Given the description of an element on the screen output the (x, y) to click on. 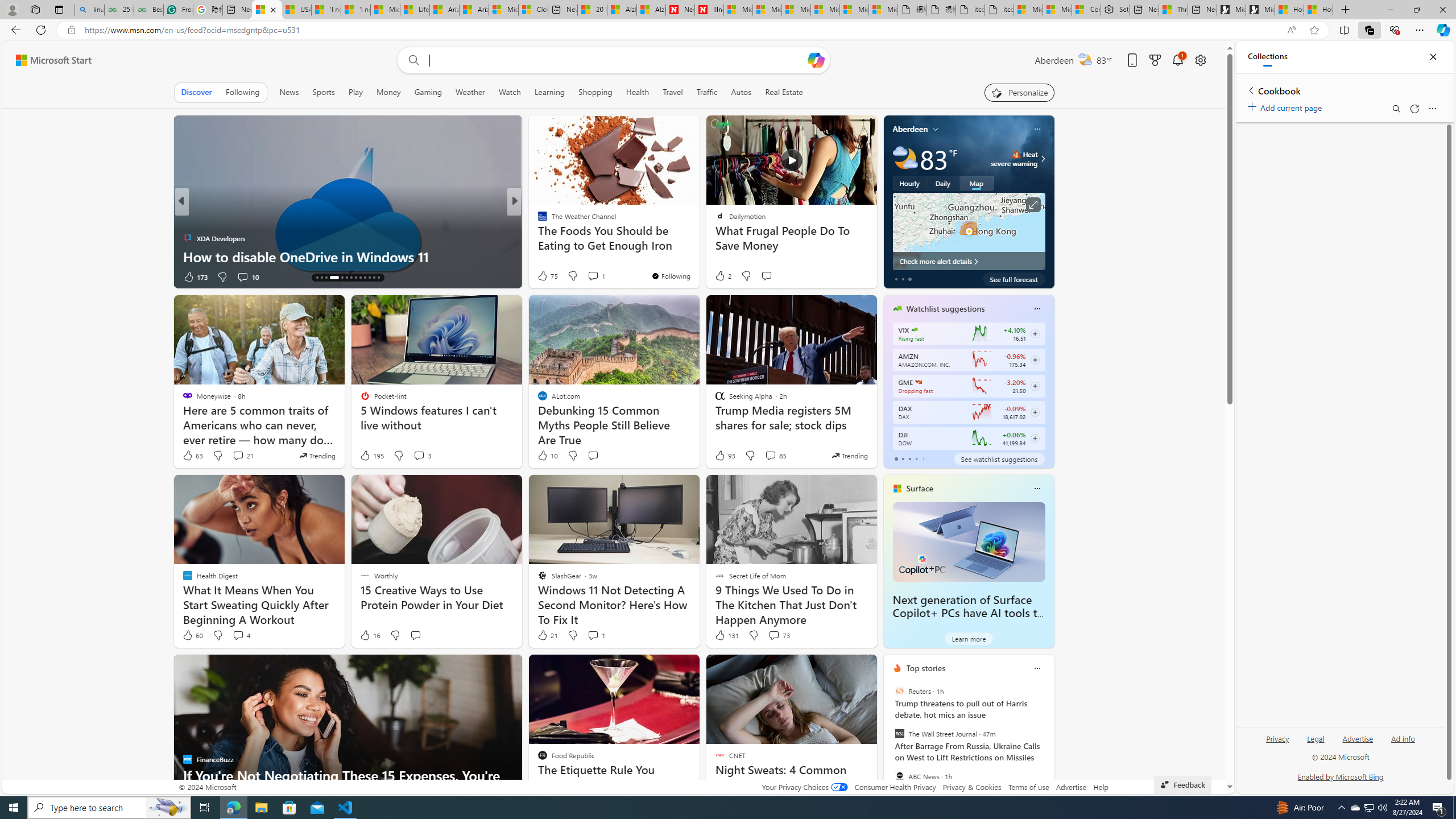
12 Essential Hygiene Habits Most People Are Skipping (697, 247)
10 Like (546, 455)
The Telegraph (537, 219)
Daily (942, 183)
View comments 5 Comment (592, 276)
View comments 787 Comment (595, 276)
42 Like (543, 276)
